Given the description of an element on the screen output the (x, y) to click on. 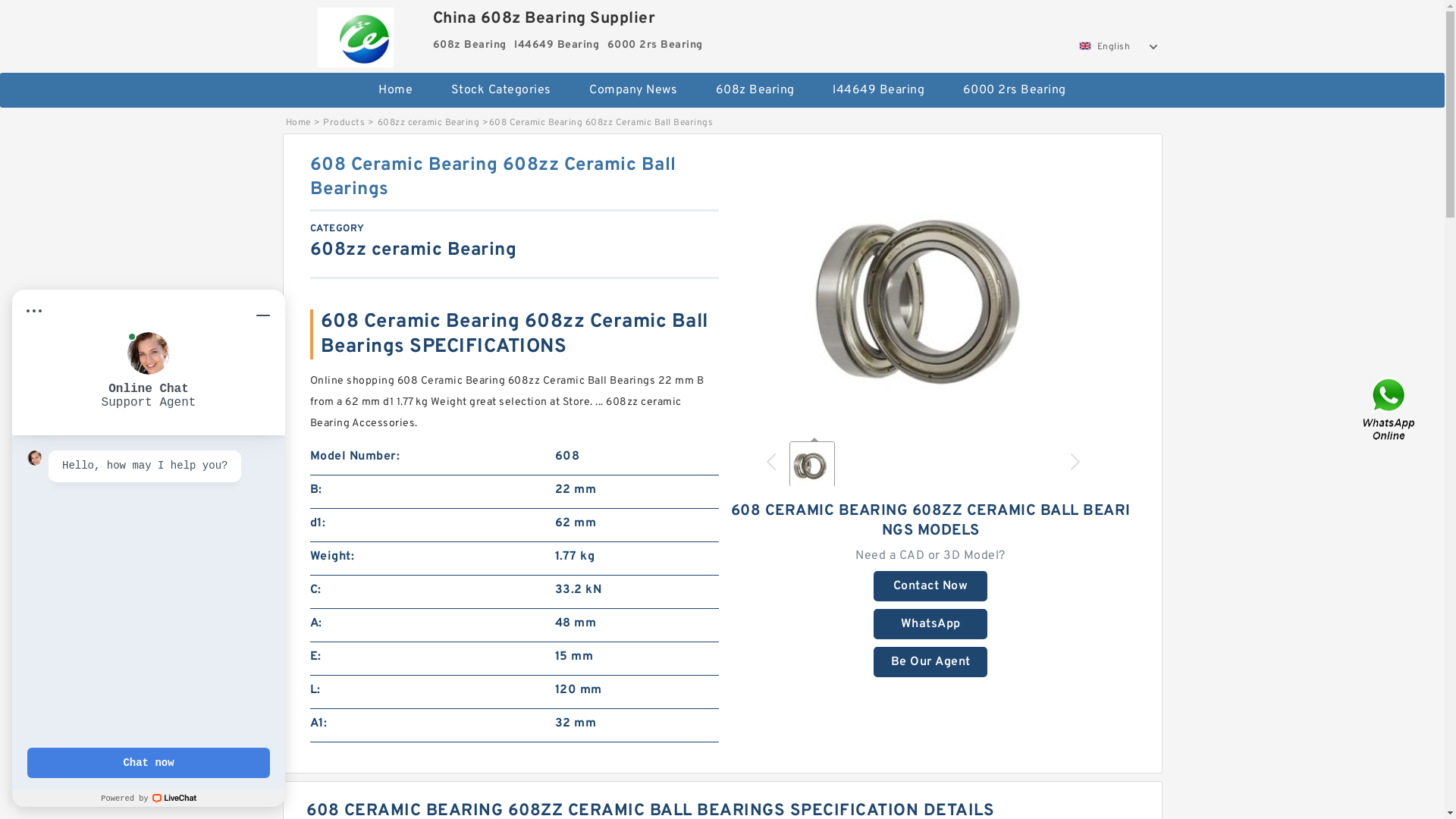
Contact Now Element type: text (930, 586)
Company News Element type: text (632, 89)
6000 2rs Bearing Element type: text (1014, 89)
China 608z Bearing Supplier Element type: hover (355, 33)
Contact Us Element type: hover (1389, 409)
WhatsApp Element type: text (930, 623)
608z Bearing Element type: text (755, 89)
l44649 Bearing Element type: text (878, 89)
Home Element type: text (394, 89)
Stock Categories Element type: text (500, 89)
608 Ceramic Bearing 608zz Ceramic Ball Bearings image Element type: hover (929, 289)
608zz ceramic Bearing Element type: text (428, 122)
Products Element type: text (343, 122)
Home Element type: text (297, 122)
Be Our Agent Element type: text (930, 661)
